Given the description of an element on the screen output the (x, y) to click on. 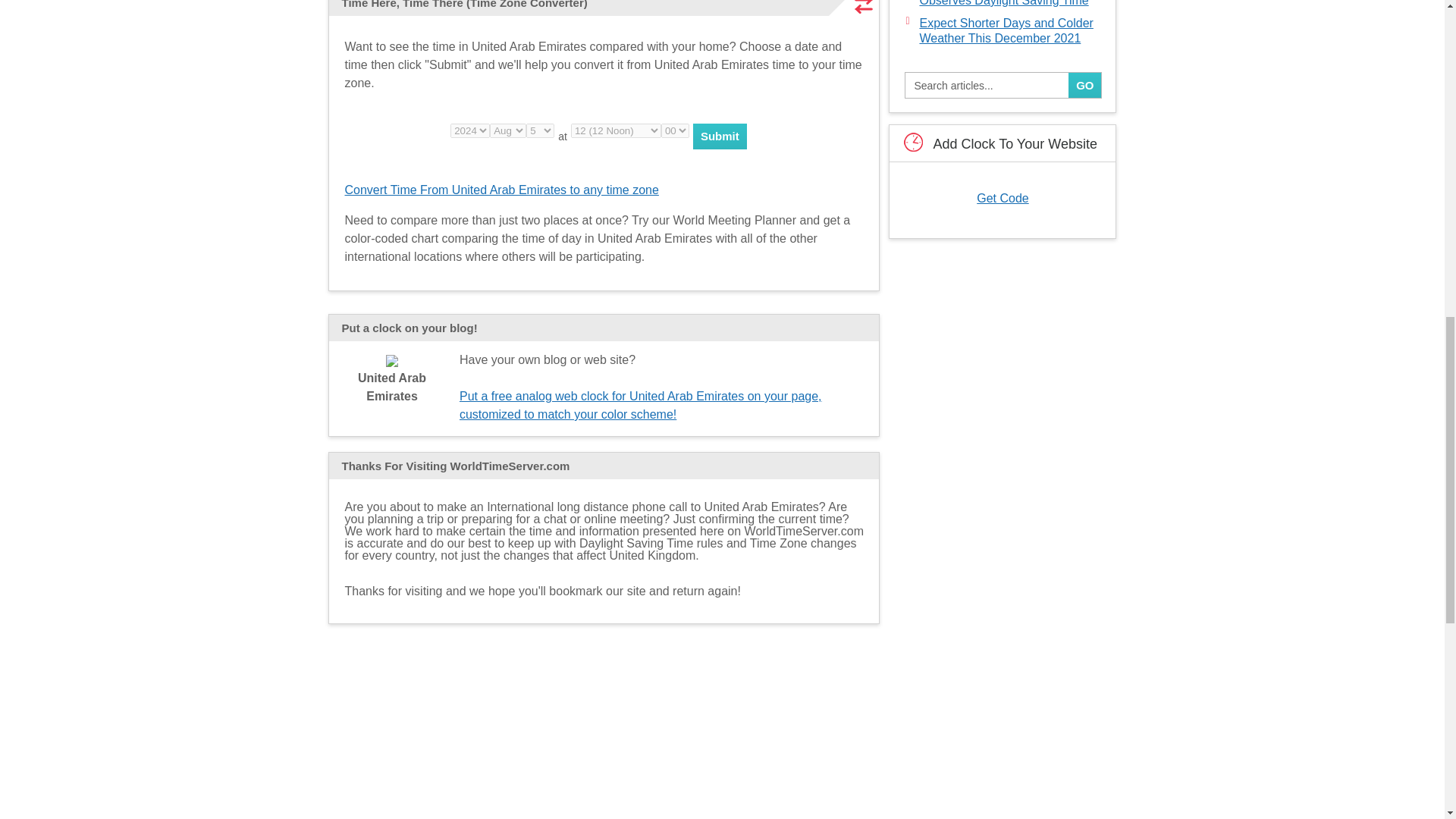
DST Reminders (603, 706)
